Given the description of an element on the screen output the (x, y) to click on. 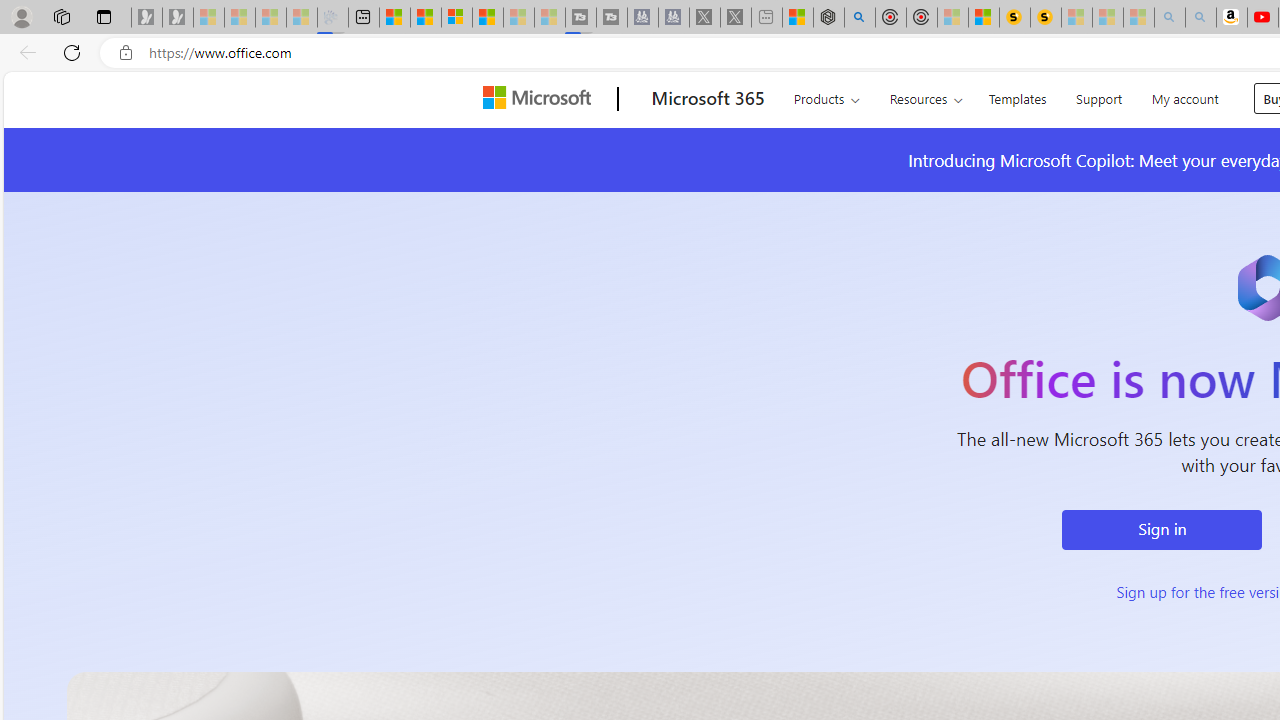
Newsletter Sign Up - Sleeping (177, 17)
X - Sleeping (735, 17)
Sign in (1162, 529)
poe - Search (859, 17)
Nordace - Summer Adventures 2024 (828, 17)
Support (1099, 96)
Templates (1017, 96)
Overview (456, 17)
